Given the description of an element on the screen output the (x, y) to click on. 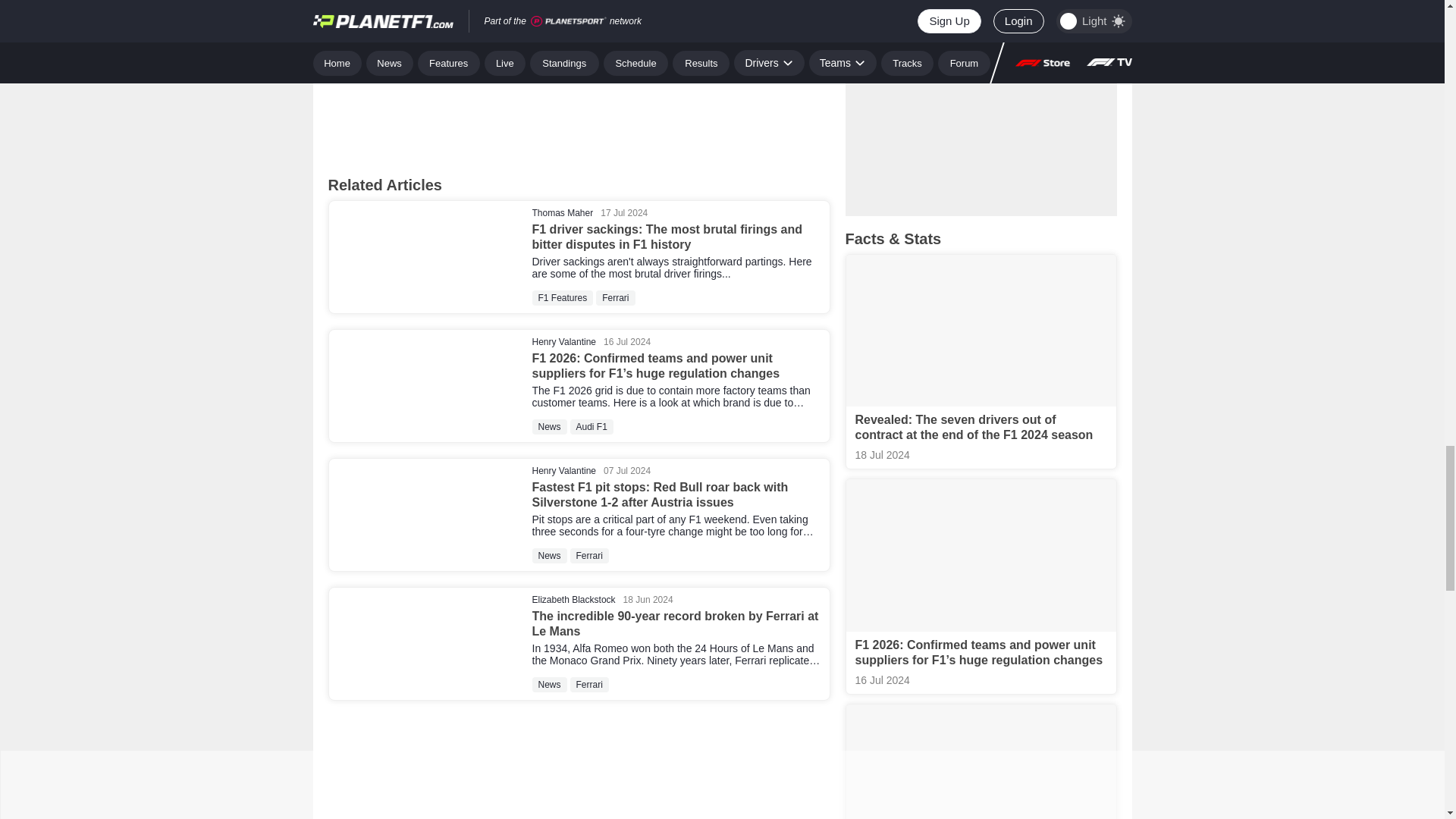
Vuukle Comments Widget (578, 81)
